Given the description of an element on the screen output the (x, y) to click on. 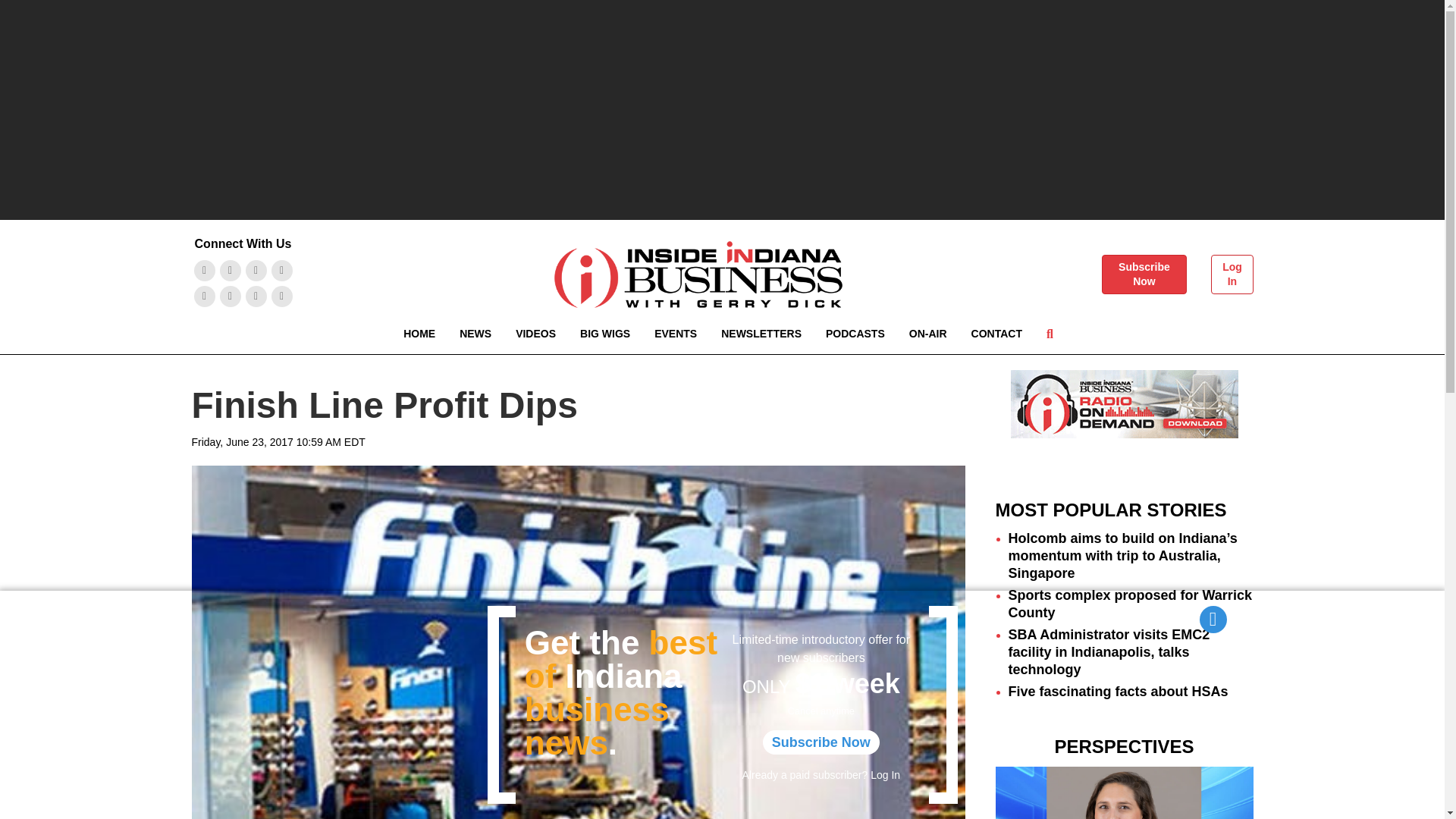
HOME (418, 333)
NEWSLETTERS (761, 333)
NEWS (474, 333)
Subscribe Now (1143, 274)
Log In (1231, 274)
EVENTS (675, 333)
CONTACT (996, 333)
BIG WIGS (604, 333)
VIDEOS (535, 333)
ON-AIR (927, 333)
PODCASTS (854, 333)
